Given the description of an element on the screen output the (x, y) to click on. 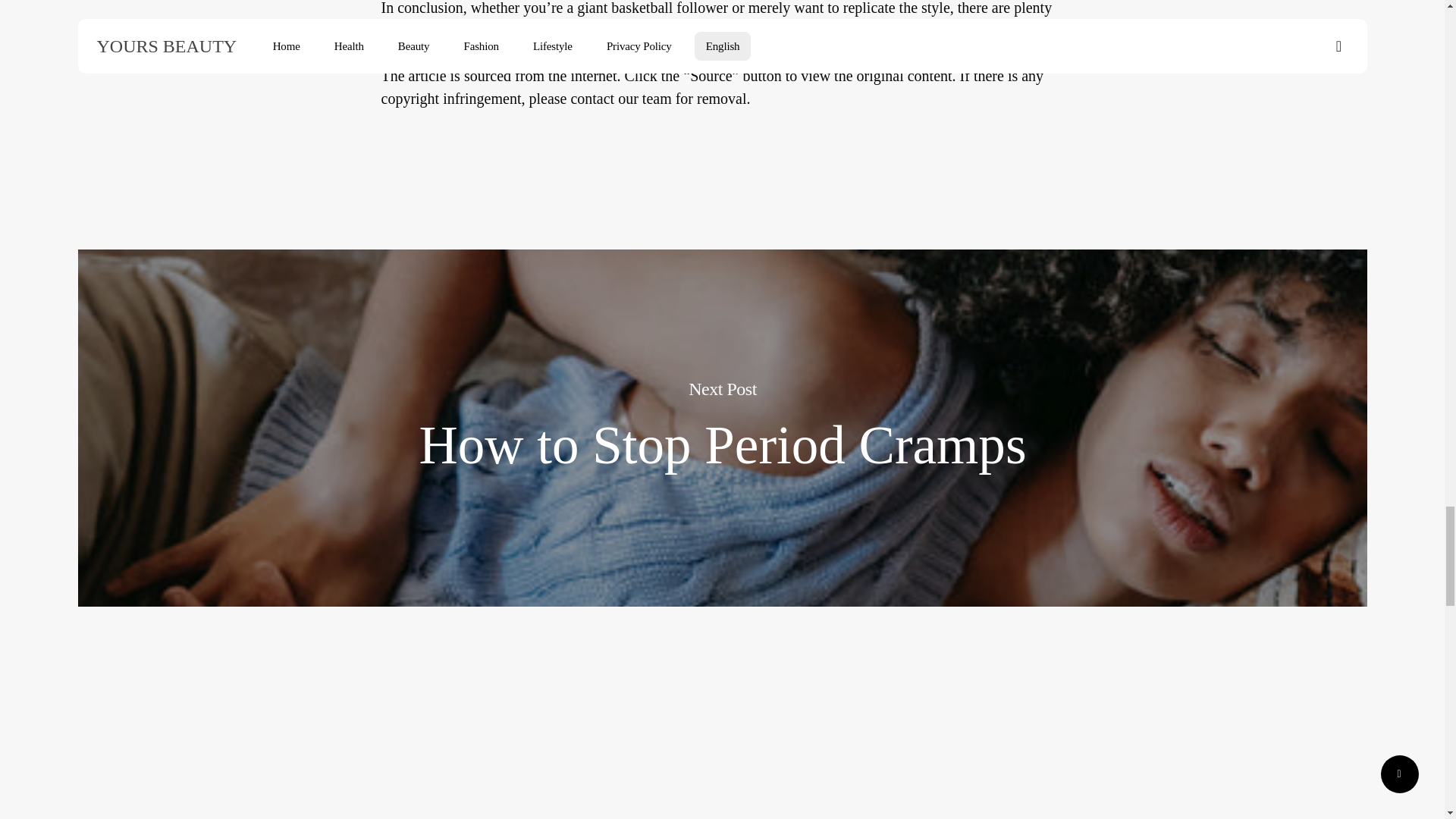
How to Stop Period Cramps (722, 445)
source (400, 56)
